Given the description of an element on the screen output the (x, y) to click on. 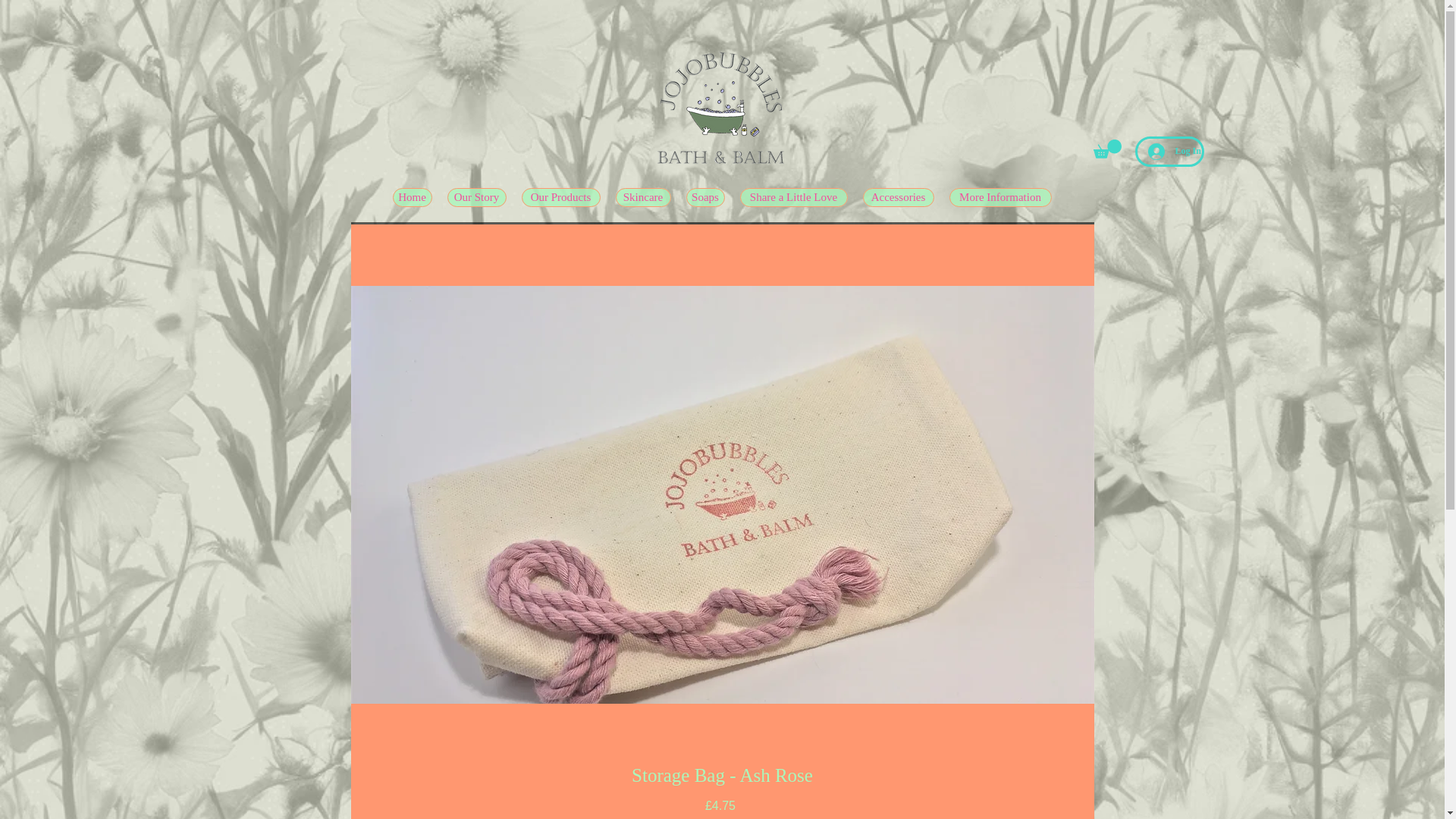
Home (412, 197)
Share a Little Love (793, 197)
Log In (1169, 151)
Our Products (560, 197)
Accessories (898, 197)
Our Story (476, 197)
